Given the description of an element on the screen output the (x, y) to click on. 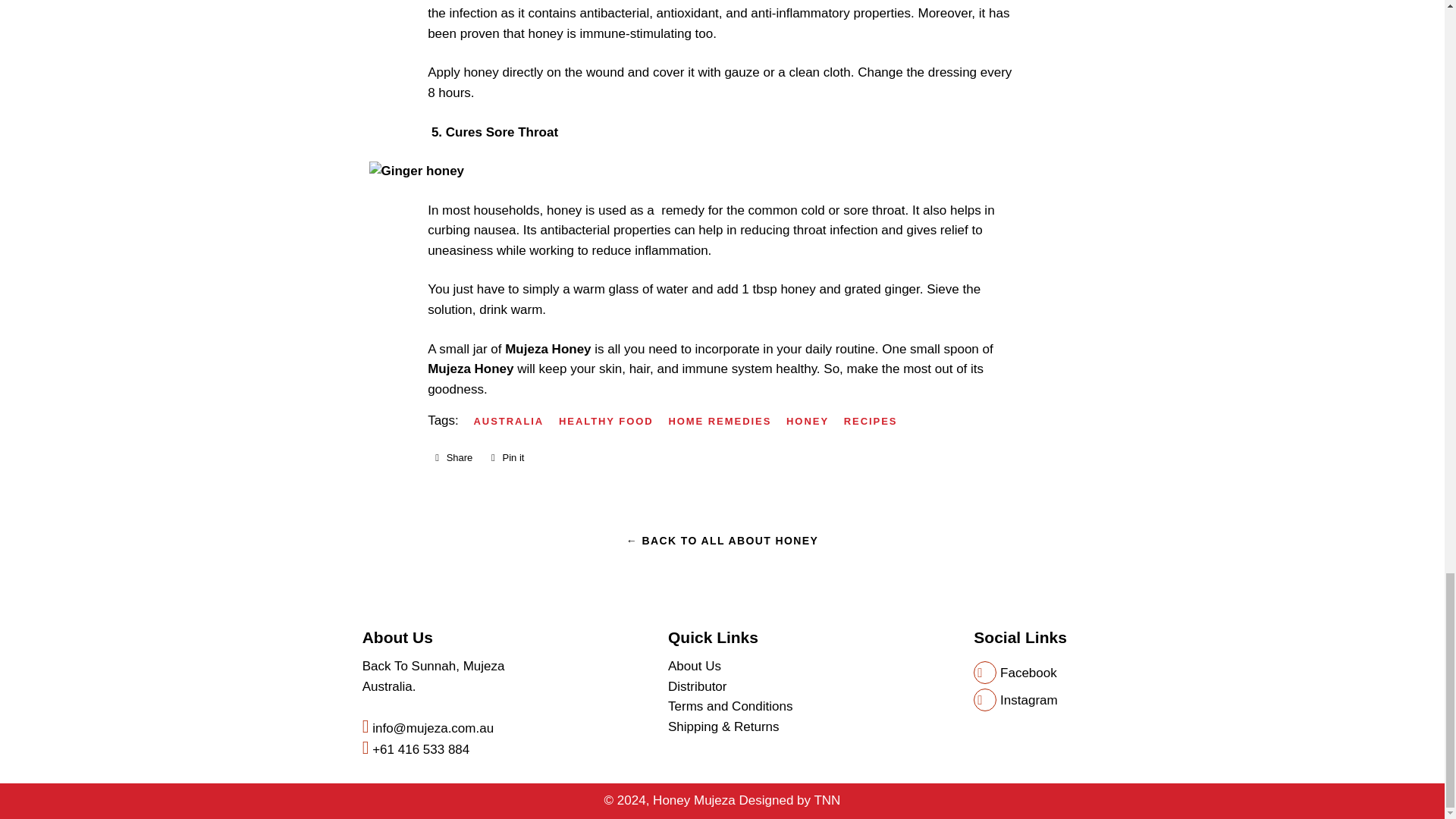
AUSTRALIA (515, 420)
HEALTHY FOOD (612, 420)
Facebook (1015, 672)
Share on Facebook (454, 457)
Honey Mujeza (693, 800)
Honey Mujeza on Facebook (1015, 672)
About Us (694, 666)
TNN (826, 800)
RECIPES (876, 420)
HOME REMEDIES (725, 420)
Distributor (697, 686)
Terms and Conditions (730, 706)
Pin on Pinterest (454, 457)
Instagram (507, 457)
